Given the description of an element on the screen output the (x, y) to click on. 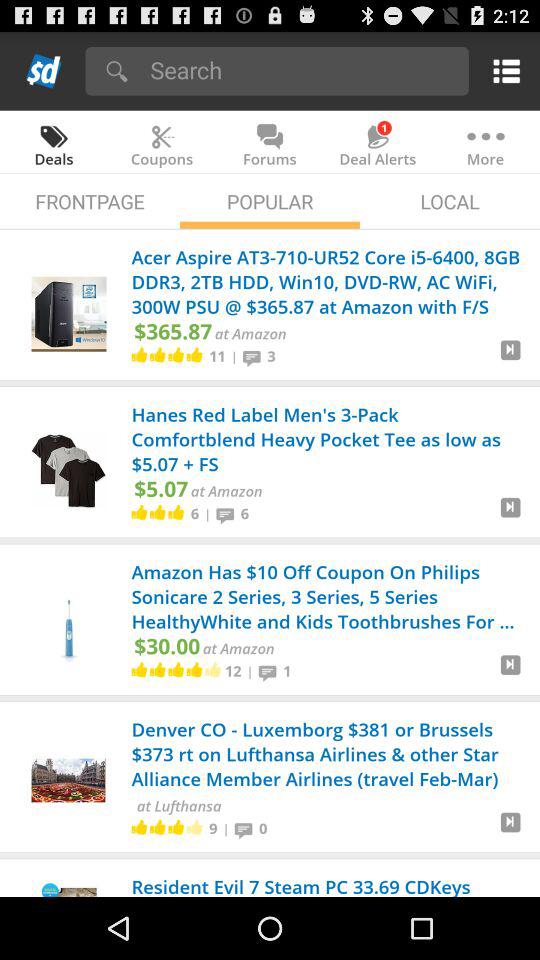
enter cart (510, 830)
